Given the description of an element on the screen output the (x, y) to click on. 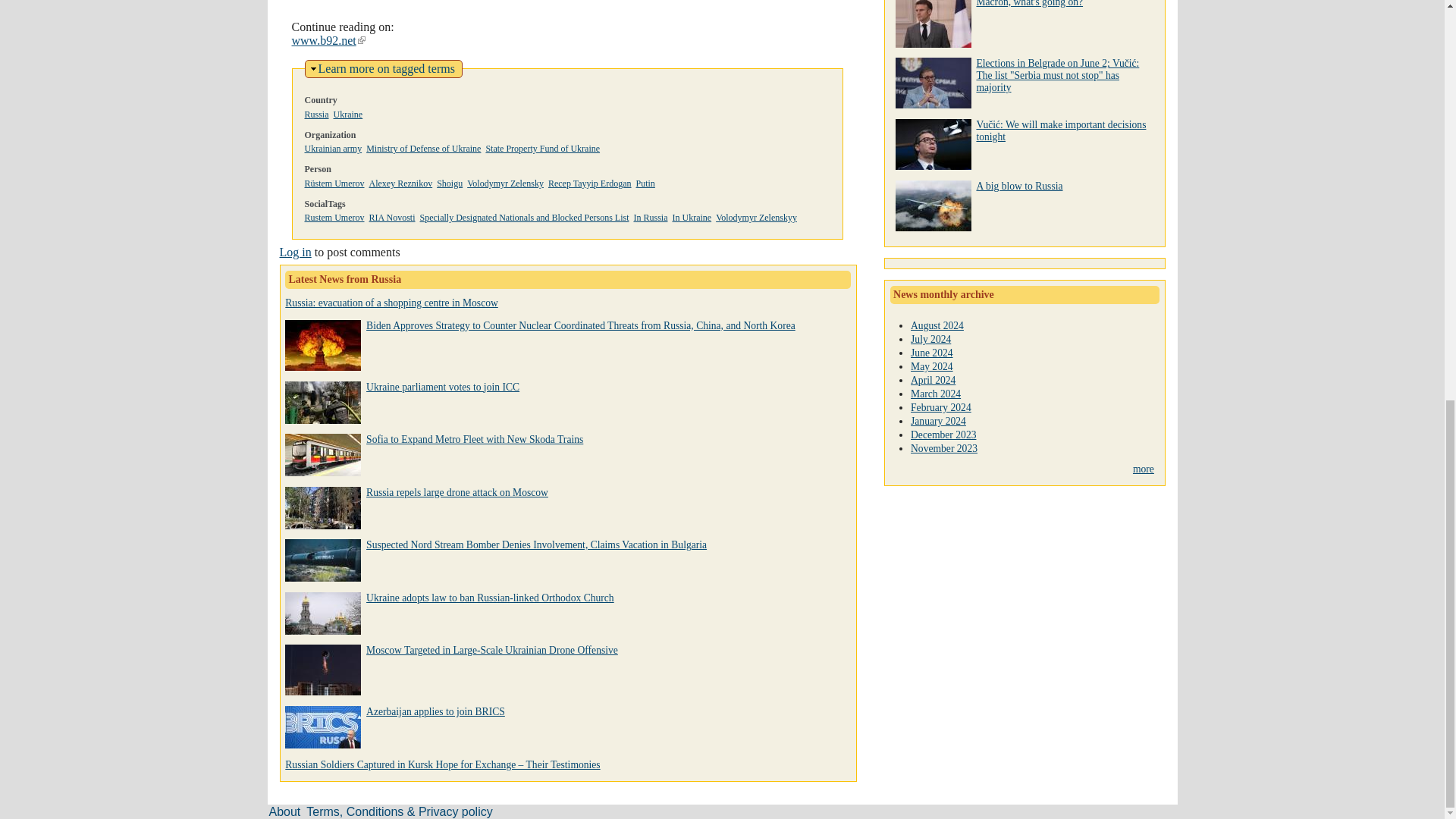
Volodymyr Zelenskyy (756, 217)
Ukrainian army (333, 148)
Russia (316, 113)
Specially Designated Nationals and Blocked Persons List (524, 217)
RIA Novosti (391, 217)
Recep Tayyip Erdogan (589, 183)
Volodymyr Zelensky (505, 183)
Shoigu (449, 183)
Russia: evacuation of a shopping centre in Moscow (391, 302)
Putin (645, 183)
